Given the description of an element on the screen output the (x, y) to click on. 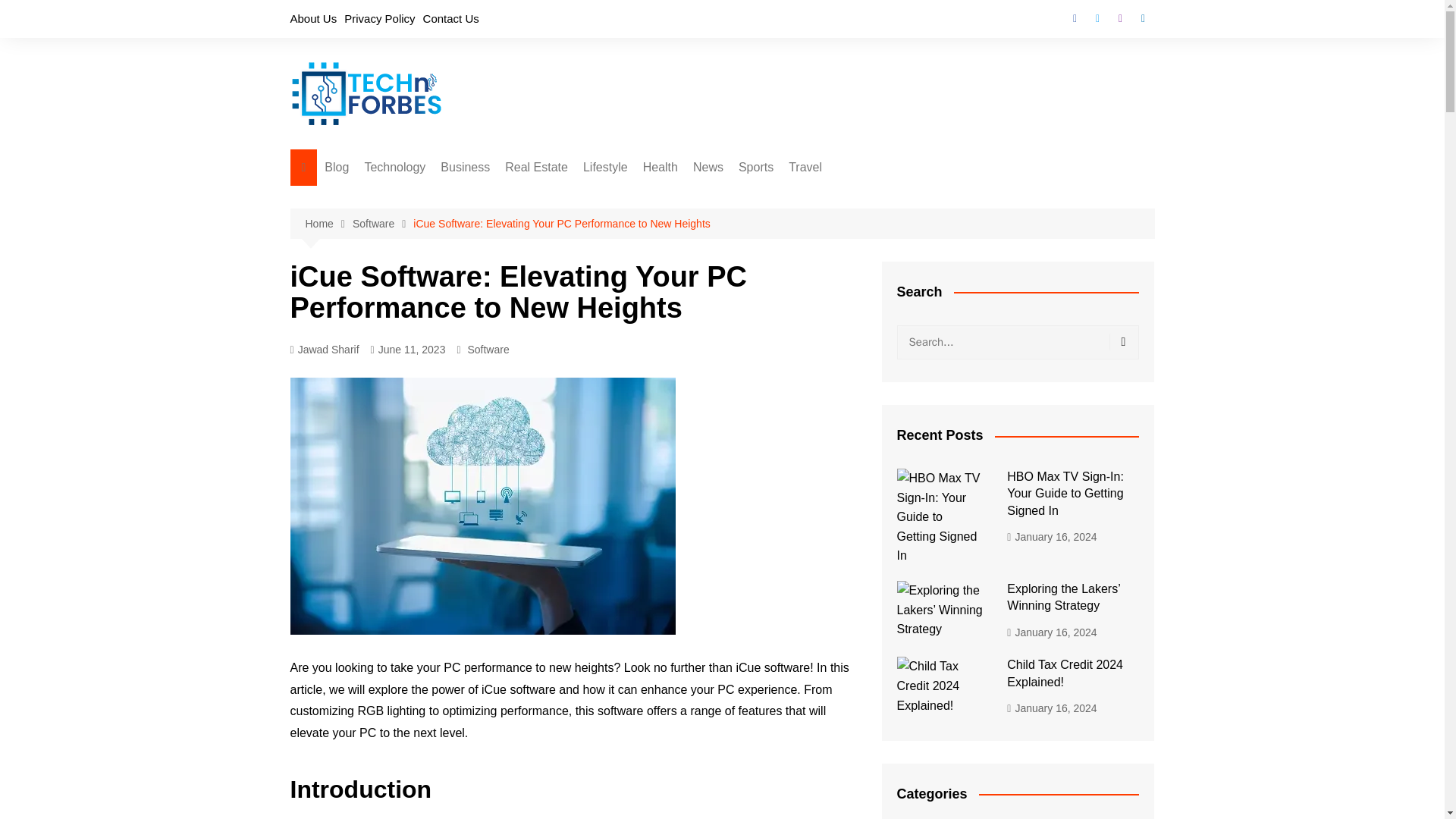
News (707, 167)
Facebook (1074, 18)
Lifestyle (604, 167)
Health (659, 167)
Real Estate (536, 167)
Software (439, 197)
Fashion (658, 197)
Software (382, 223)
June 11, 2023 (408, 349)
About Us (312, 18)
Instagram (1119, 18)
Software (487, 349)
Home (328, 223)
Contact Us (451, 18)
Business (464, 167)
